Given the description of an element on the screen output the (x, y) to click on. 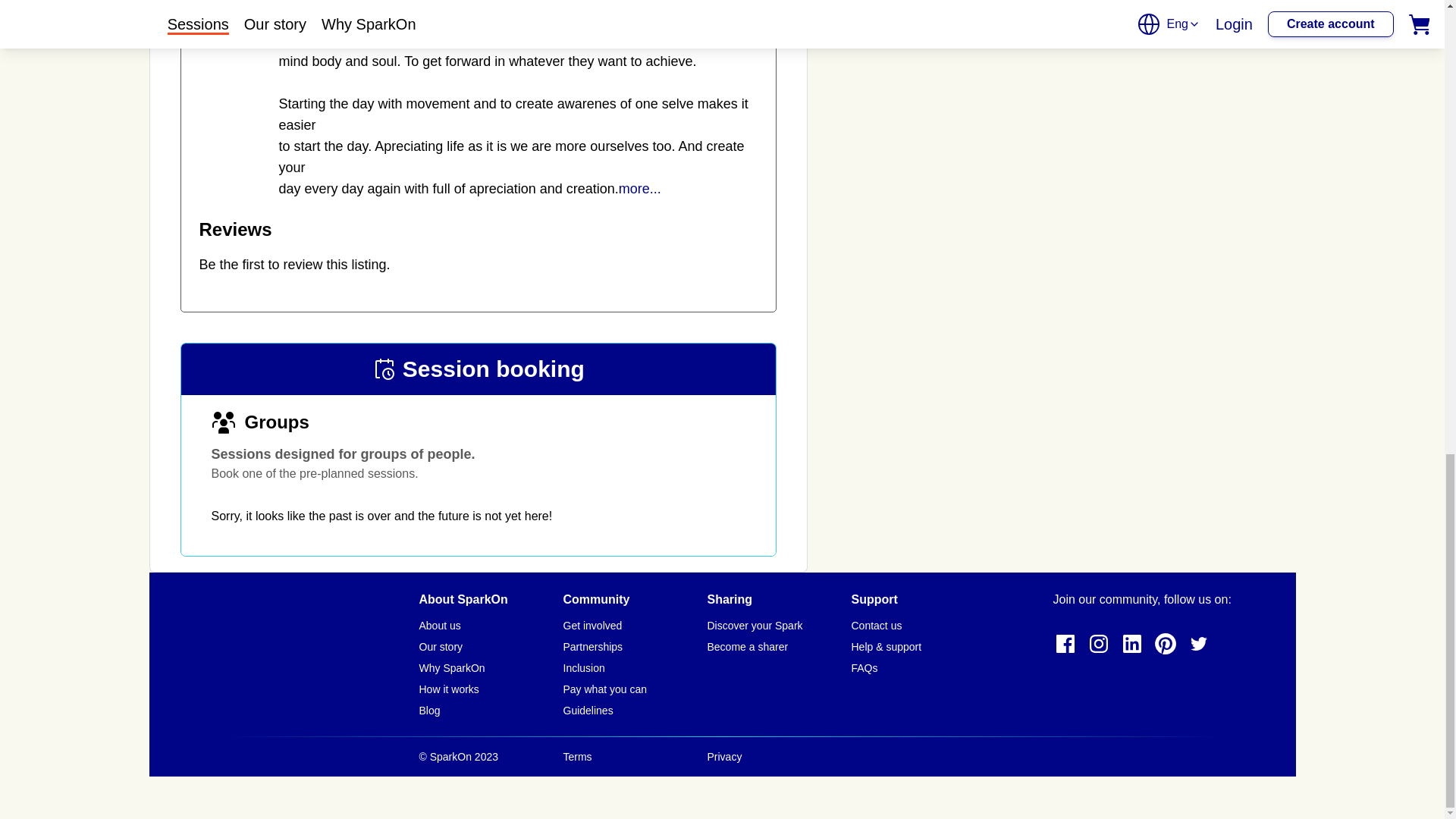
Partnerships (592, 646)
Connect with us on LinkedIn (1130, 643)
Visit SparkOn Facebook page (1064, 643)
Why SparkOn (451, 667)
FAQs (863, 667)
Become a sharer (746, 646)
How it works (449, 689)
Follow us on Instagram (1097, 643)
Guidelines (587, 710)
Inclusion (583, 667)
Contact us (875, 625)
About us (439, 625)
Blog (429, 710)
more... (639, 188)
Discover your Spark (754, 625)
